Given the description of an element on the screen output the (x, y) to click on. 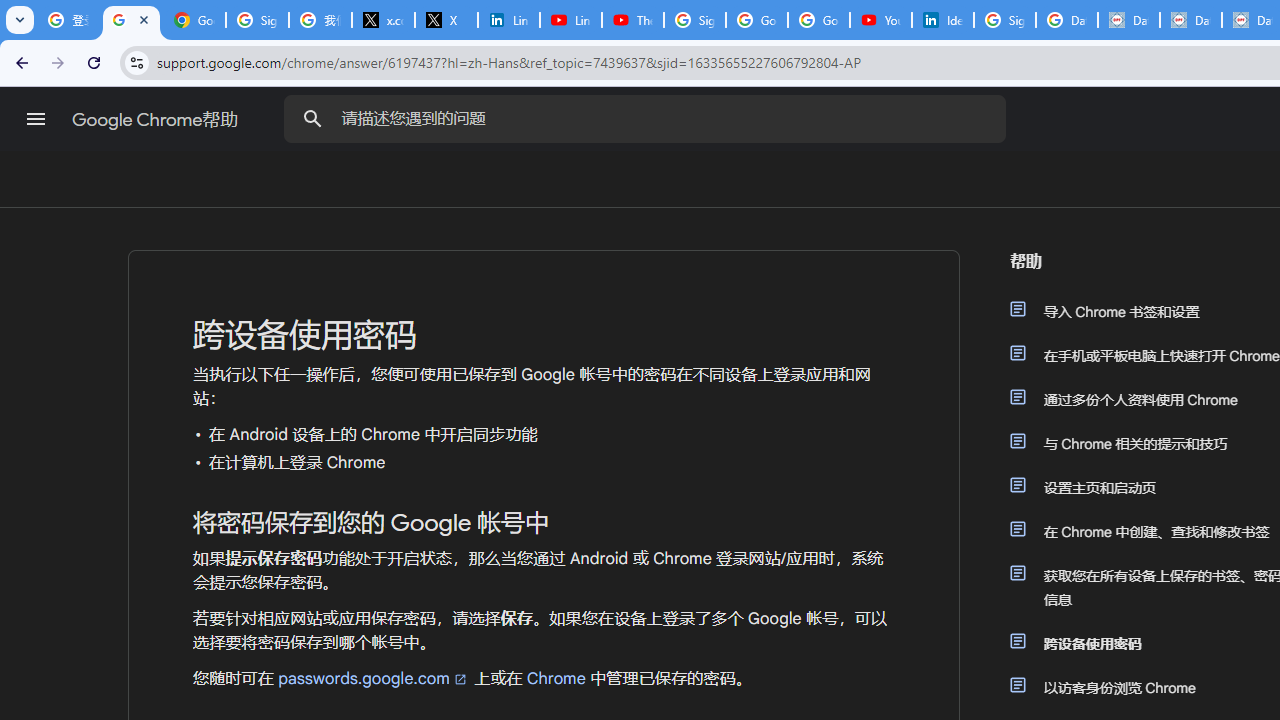
Data Privacy Framework (1128, 20)
Sign in - Google Accounts (694, 20)
